Given the description of an element on the screen output the (x, y) to click on. 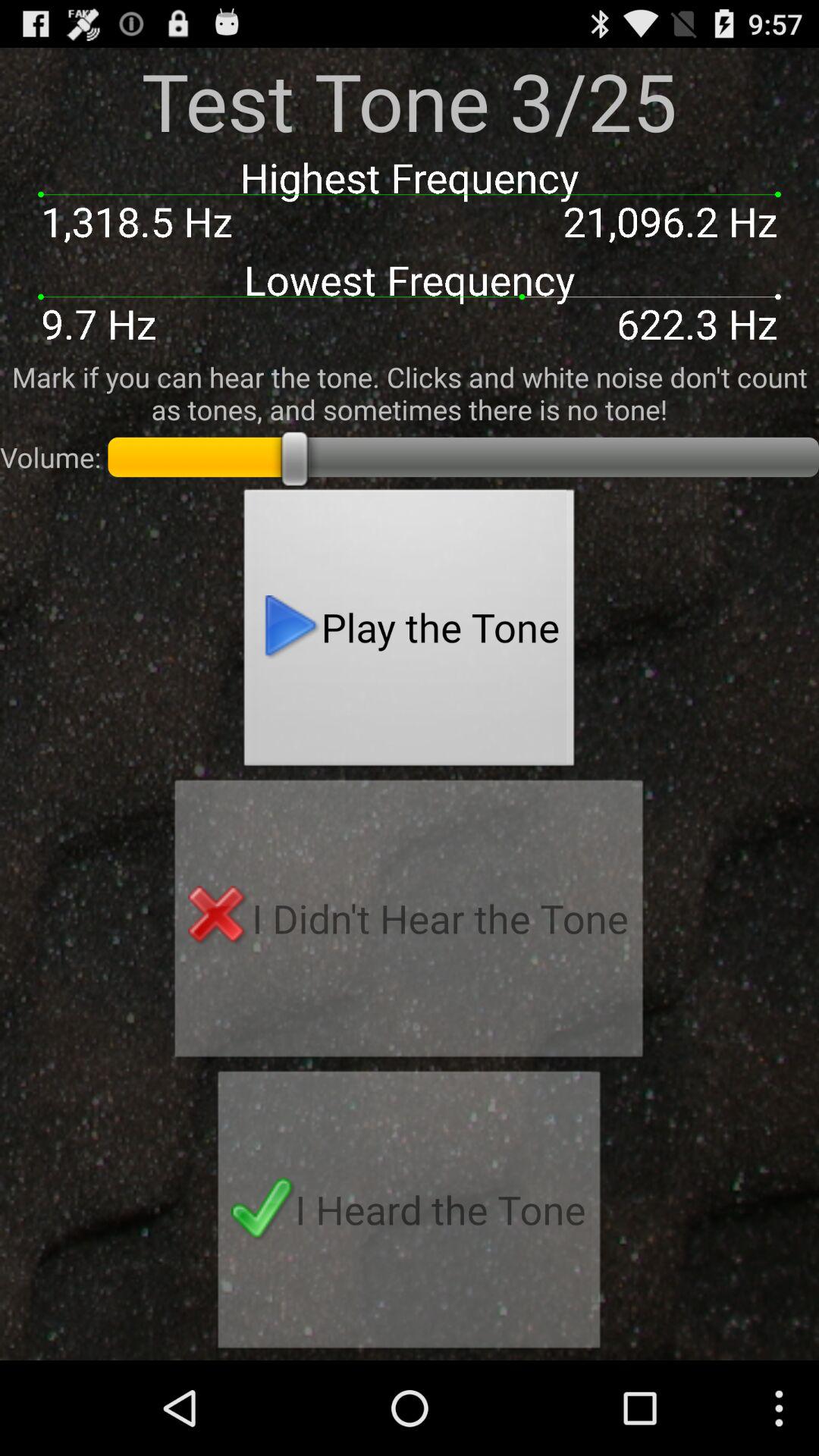
turn off icon below play the tone (409, 922)
